Given the description of an element on the screen output the (x, y) to click on. 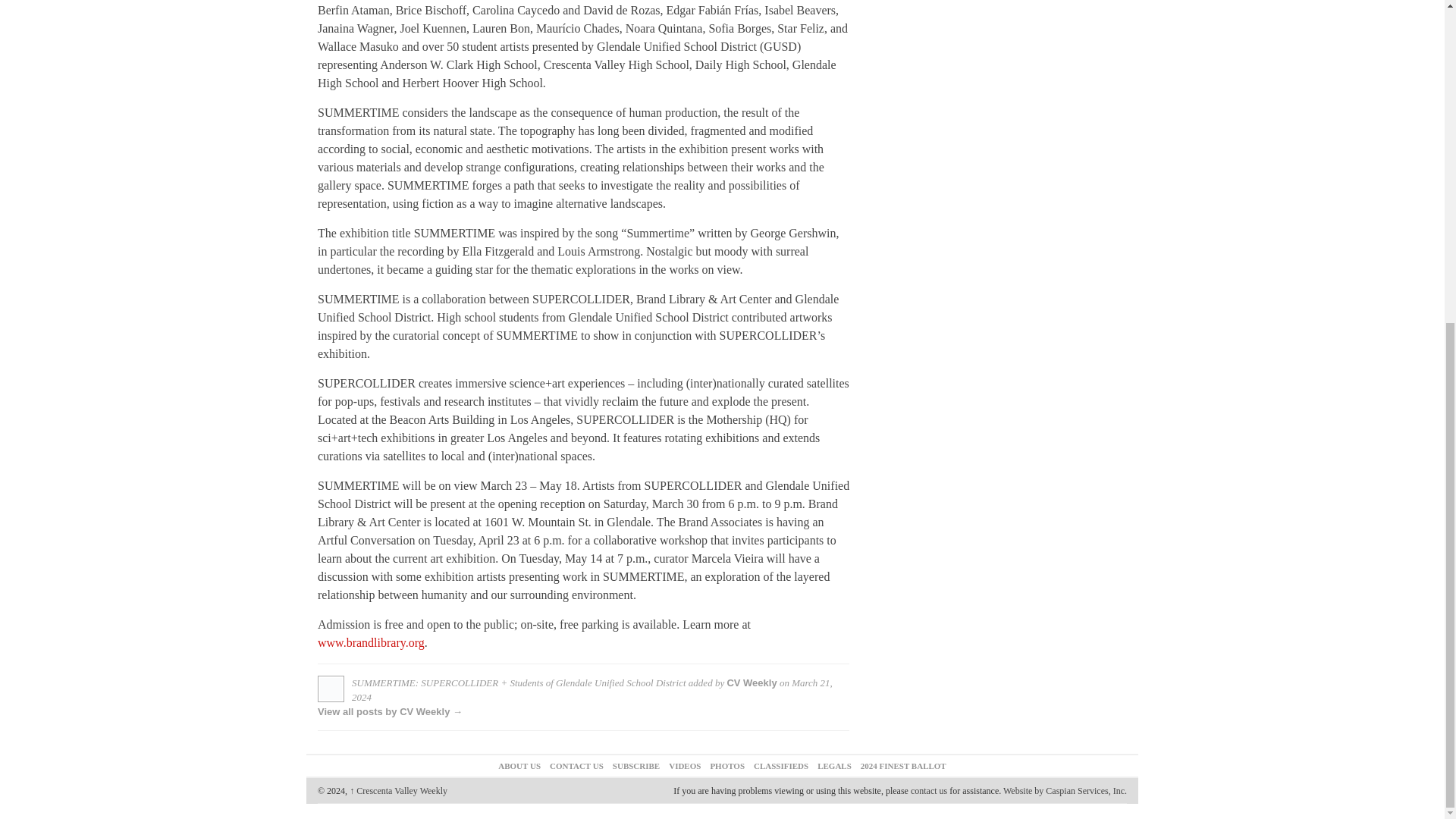
Crescenta Valley Weekly (397, 790)
